Given the description of an element on the screen output the (x, y) to click on. 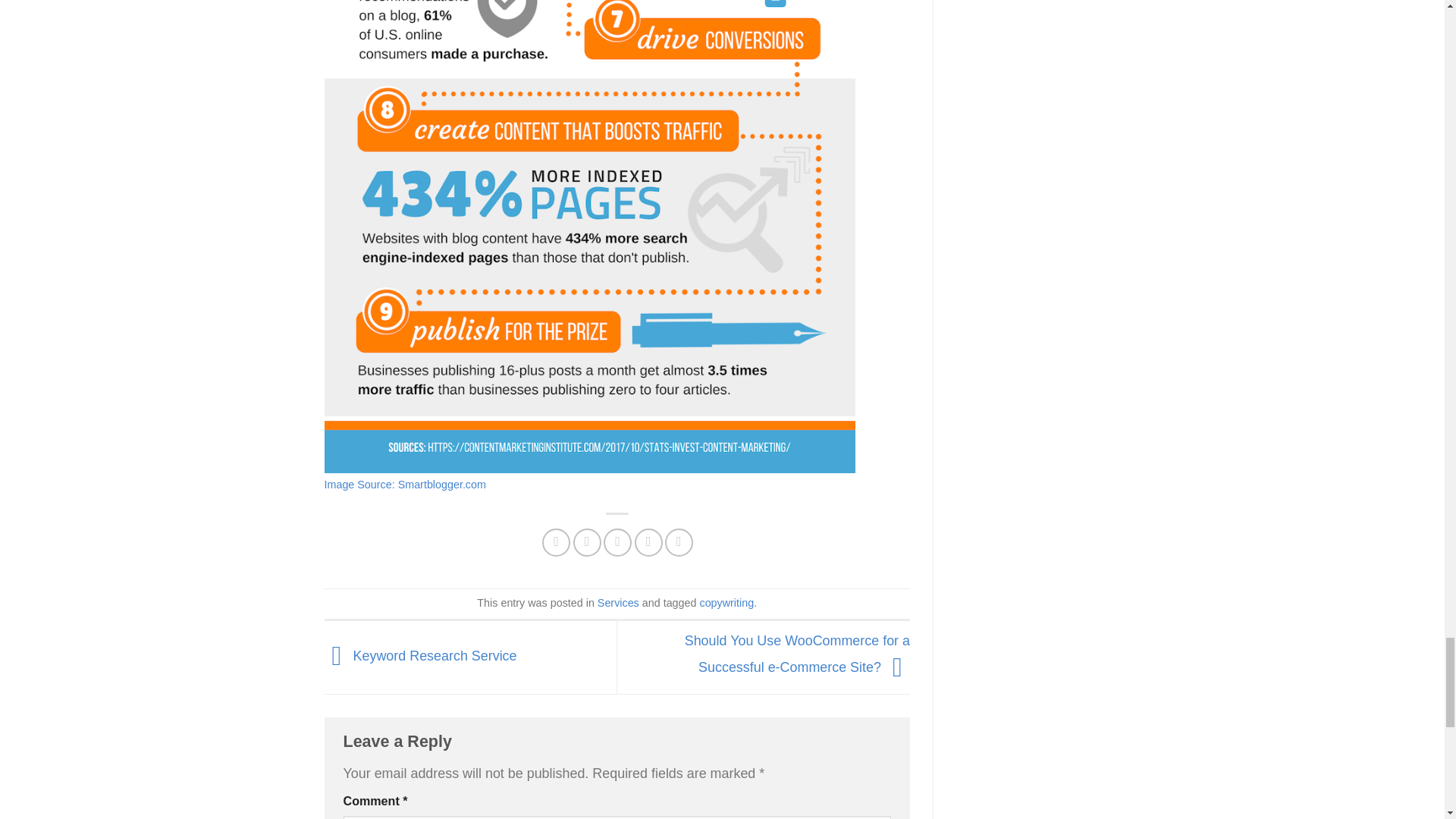
Share on LinkedIn (679, 542)
Email to a Friend (617, 542)
Share on Twitter (587, 542)
Image Source: Smartblogger.com (405, 484)
Share on Facebook (555, 542)
Pin on Pinterest (648, 542)
